Given the description of an element on the screen output the (x, y) to click on. 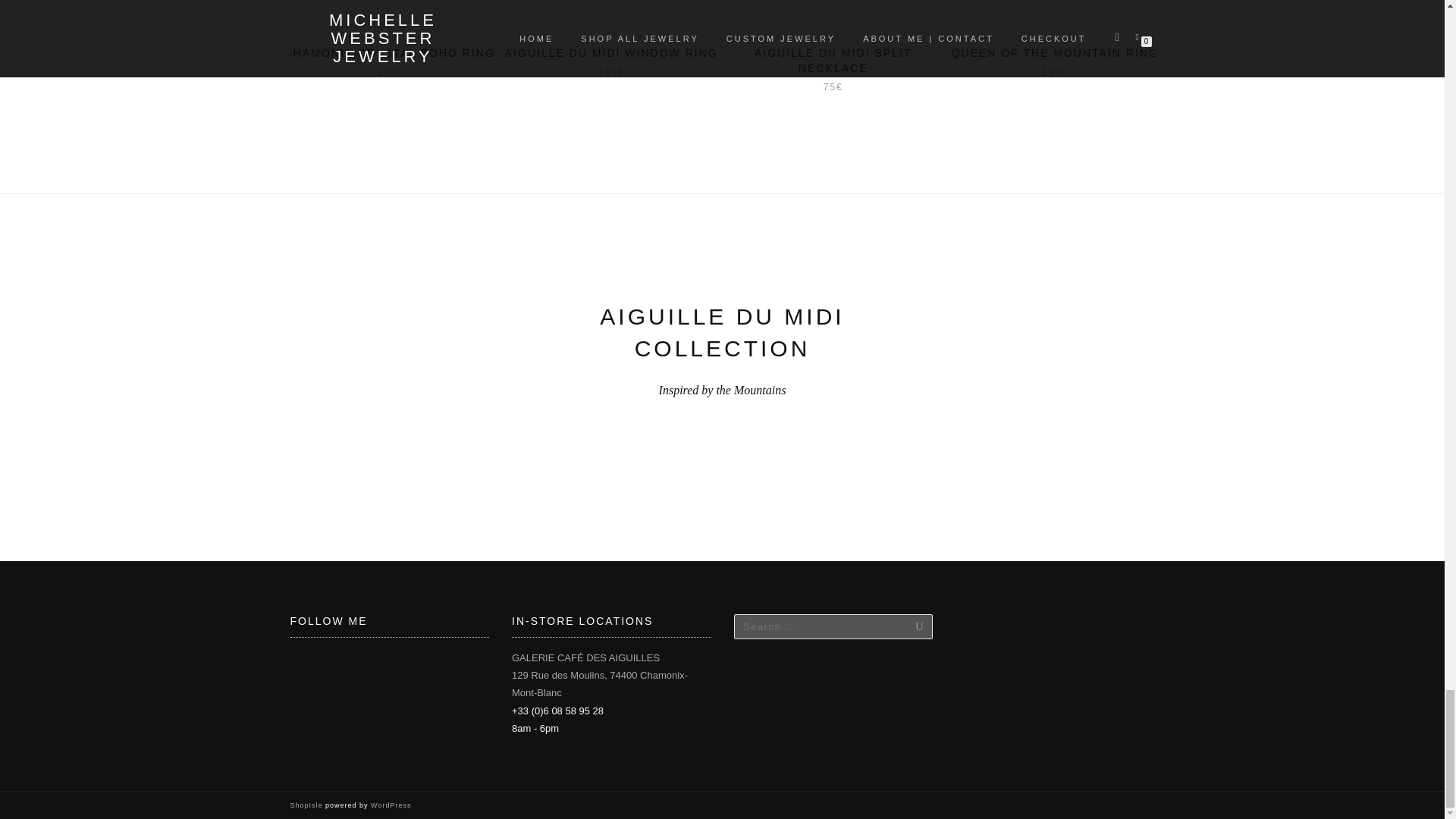
Chamonix Crystal Boho Ring (389, 16)
Aiguille du Midi Window Ring (611, 16)
Search (903, 626)
Search (903, 626)
Aiguille du Midi Split Necklace (832, 16)
